Given the description of an element on the screen output the (x, y) to click on. 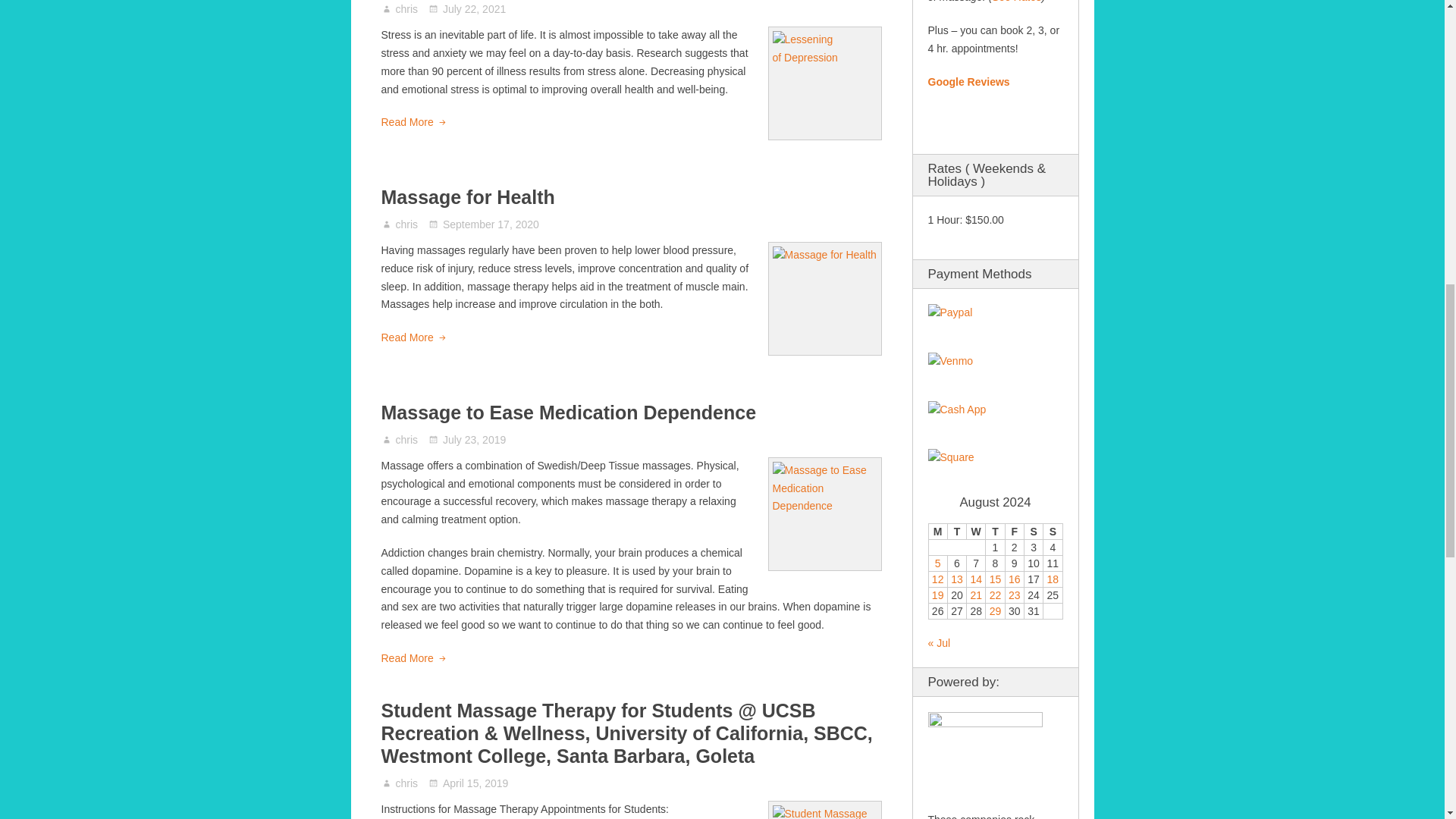
Posts by chris (407, 439)
Saturday (1032, 531)
Read More (413, 122)
chris (407, 439)
Read More (413, 338)
Thursday (994, 531)
July 22, 2021 (466, 9)
Payment Methods (950, 312)
July 23, 2019 (466, 439)
Posts by chris (407, 9)
